Given the description of an element on the screen output the (x, y) to click on. 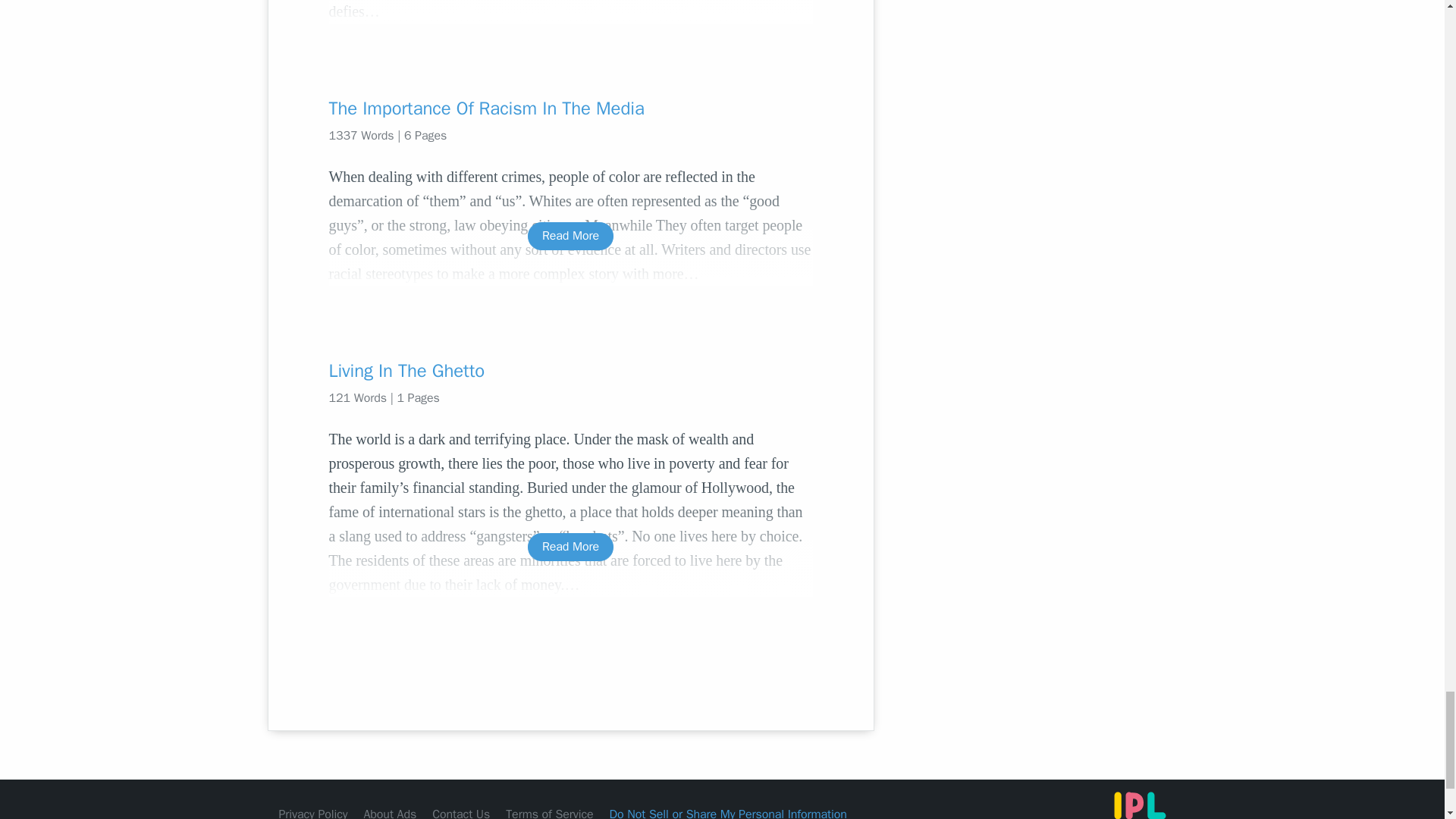
Living In The Ghetto (570, 370)
Read More (569, 547)
Contact Us (460, 812)
Read More (569, 235)
About Ads (389, 812)
The Importance Of Racism In The Media (570, 108)
About Ads (389, 812)
Terms of Service (548, 812)
Privacy Policy (313, 812)
Contact Us (460, 812)
Privacy Policy (313, 812)
